Given the description of an element on the screen output the (x, y) to click on. 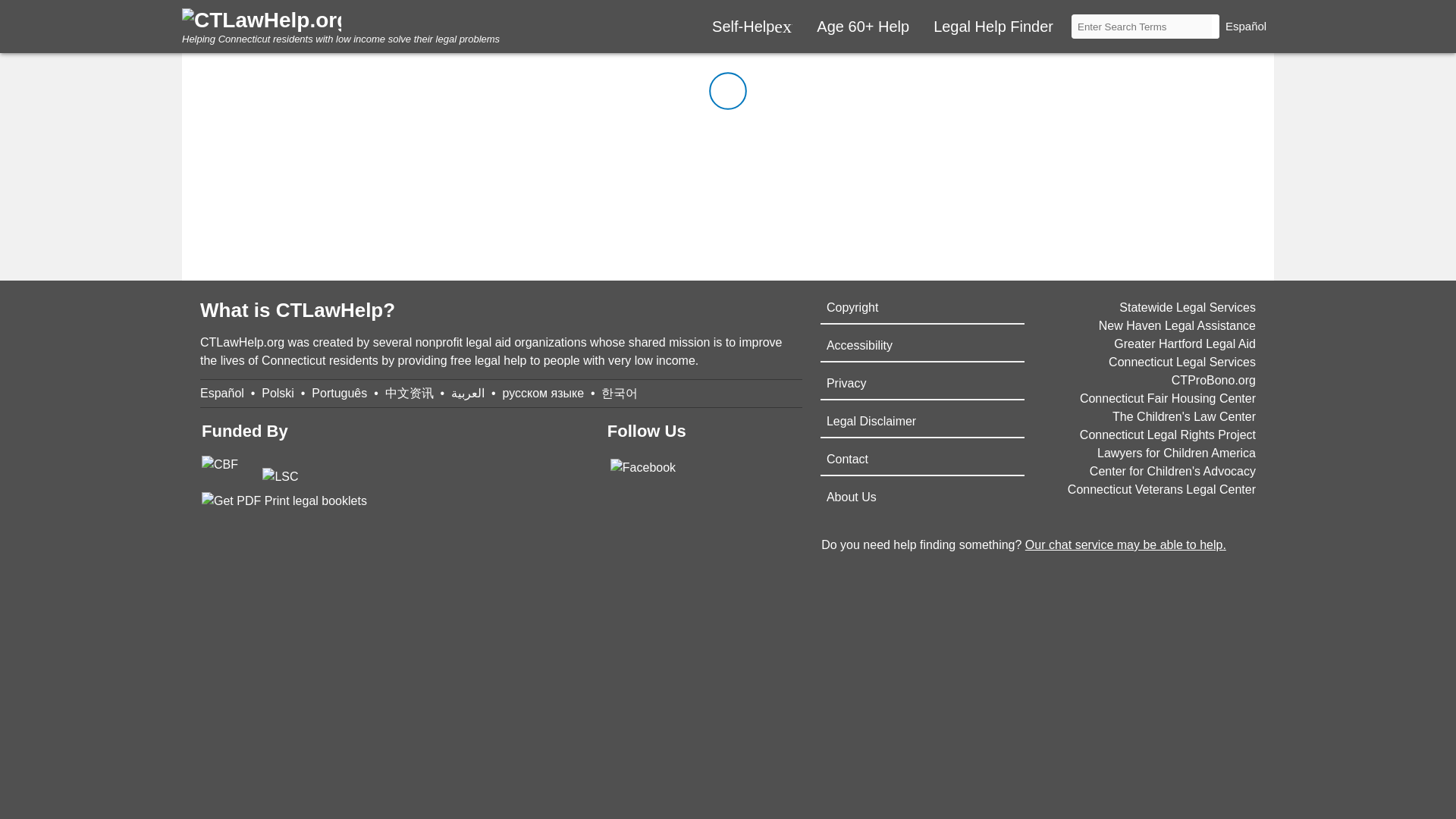
Change Language (1249, 26)
Legal Help Finder (993, 26)
